Given the description of an element on the screen output the (x, y) to click on. 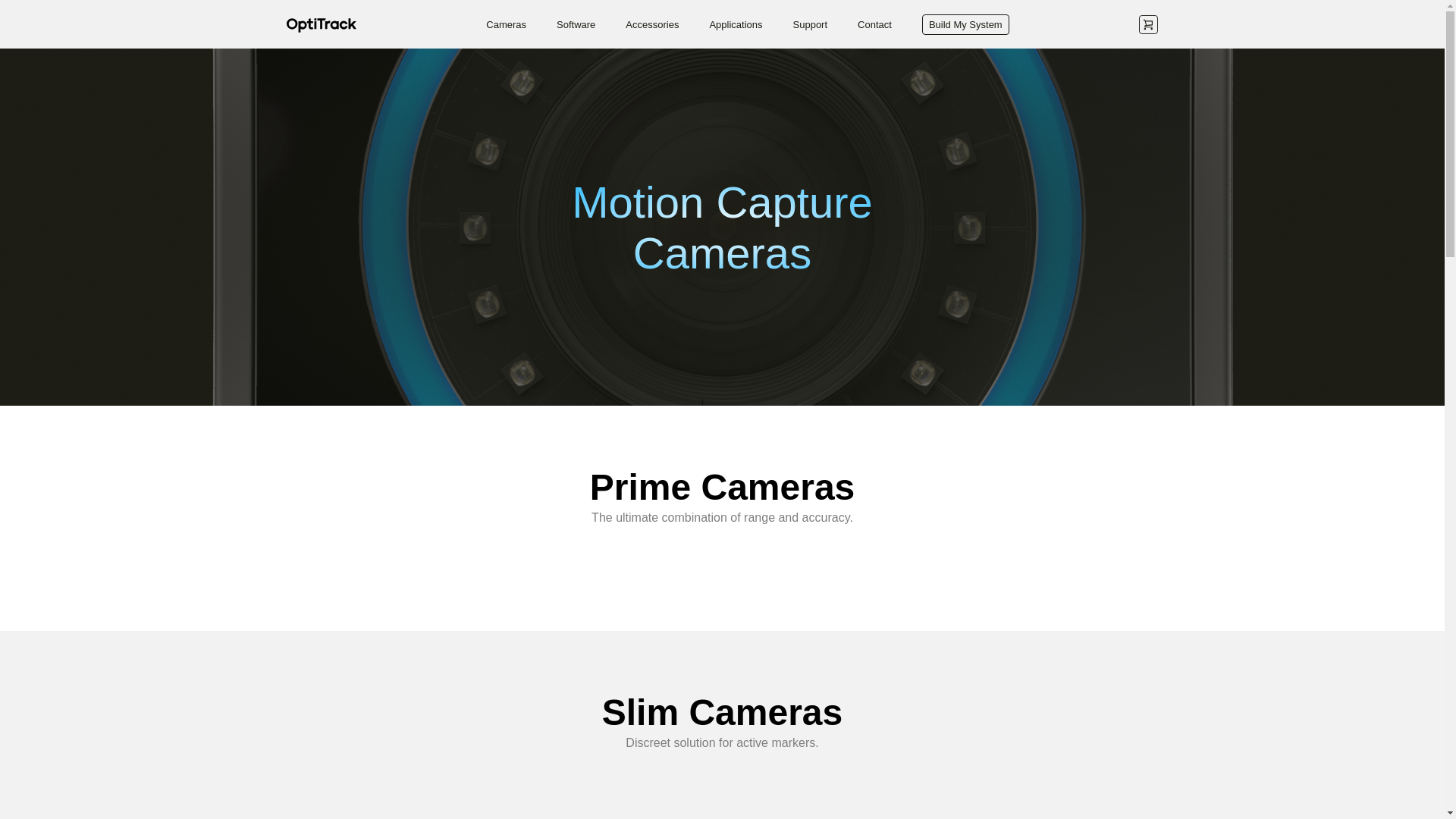
Accessories (652, 23)
Build My System (965, 23)
Support (810, 23)
Applications (735, 23)
Contact (874, 23)
Cameras (505, 23)
Software (575, 23)
